Given the description of an element on the screen output the (x, y) to click on. 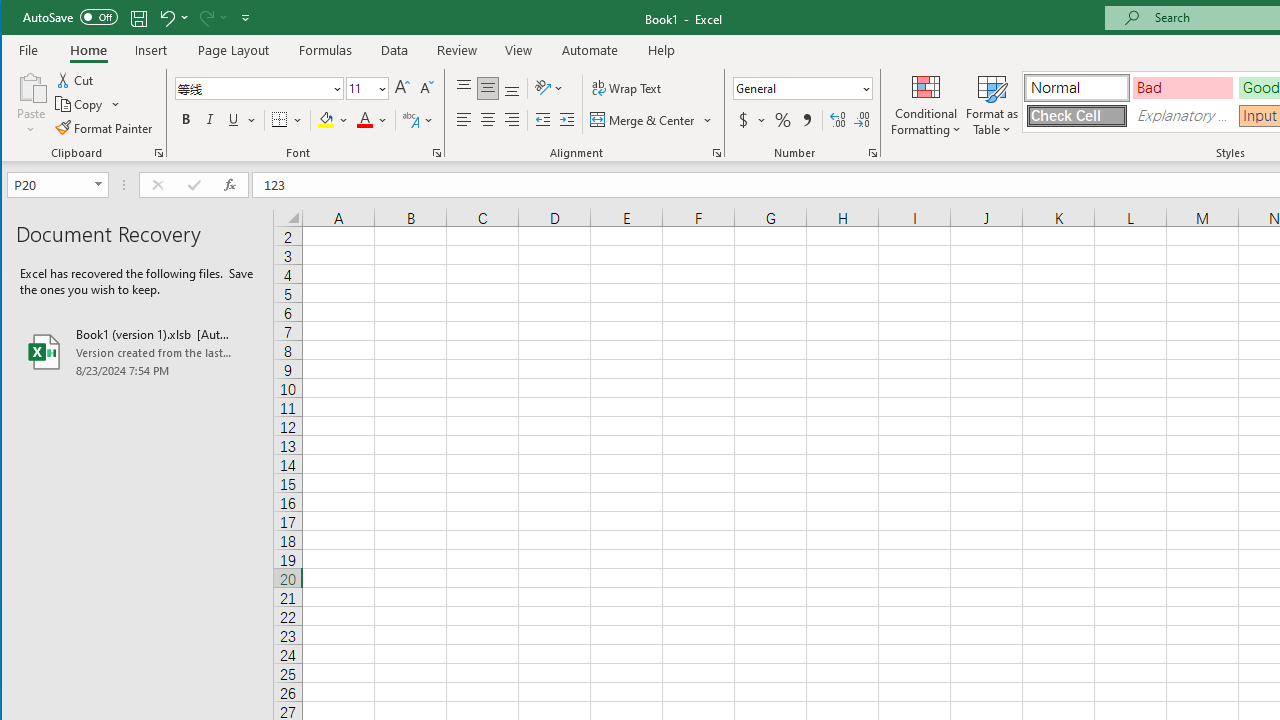
Format Cell Alignment (716, 152)
Format as Table (992, 104)
Bottom Border (279, 119)
Top Align (463, 88)
Explanatory Text (1183, 116)
Underline (233, 119)
Copy (88, 103)
Bad (1183, 88)
Center (488, 119)
Paste (31, 104)
Align Left (463, 119)
